Given the description of an element on the screen output the (x, y) to click on. 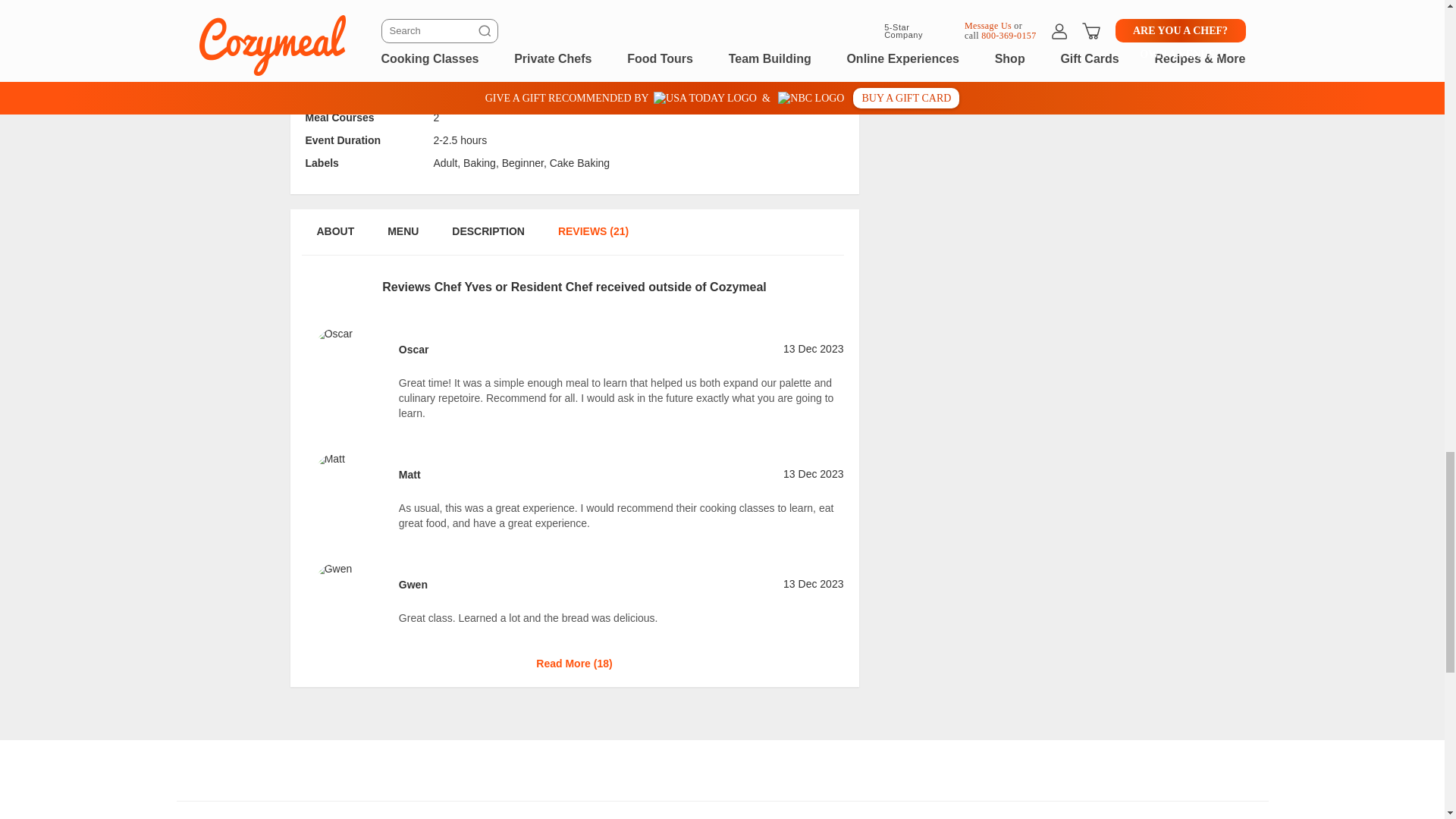
ABOUT (334, 239)
MENU (402, 25)
MENU (402, 239)
DESCRIPTION (488, 239)
ABOUT (334, 25)
DESCRIPTION (488, 25)
